Given the description of an element on the screen output the (x, y) to click on. 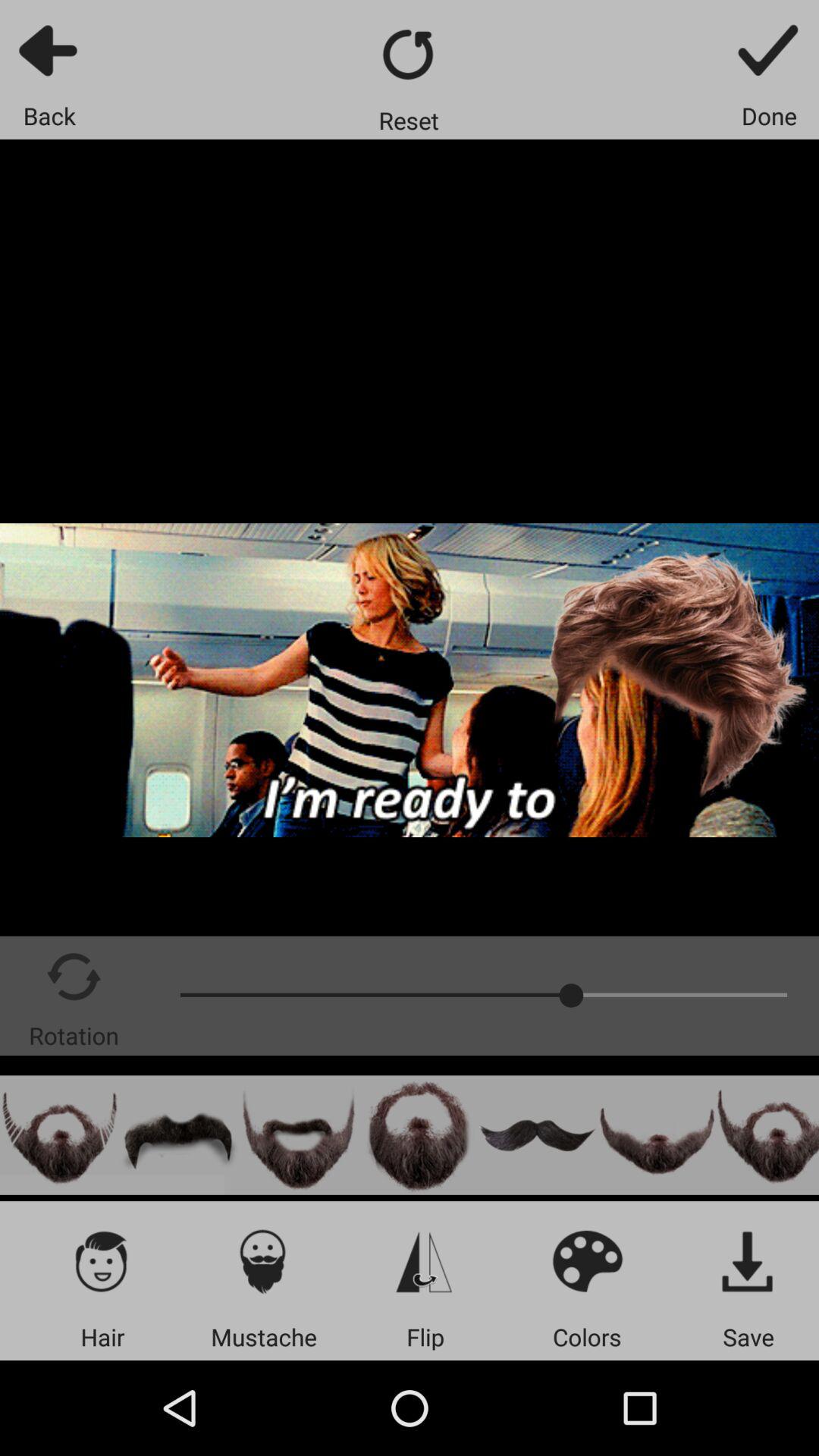
select content (298, 1134)
